Given the description of an element on the screen output the (x, y) to click on. 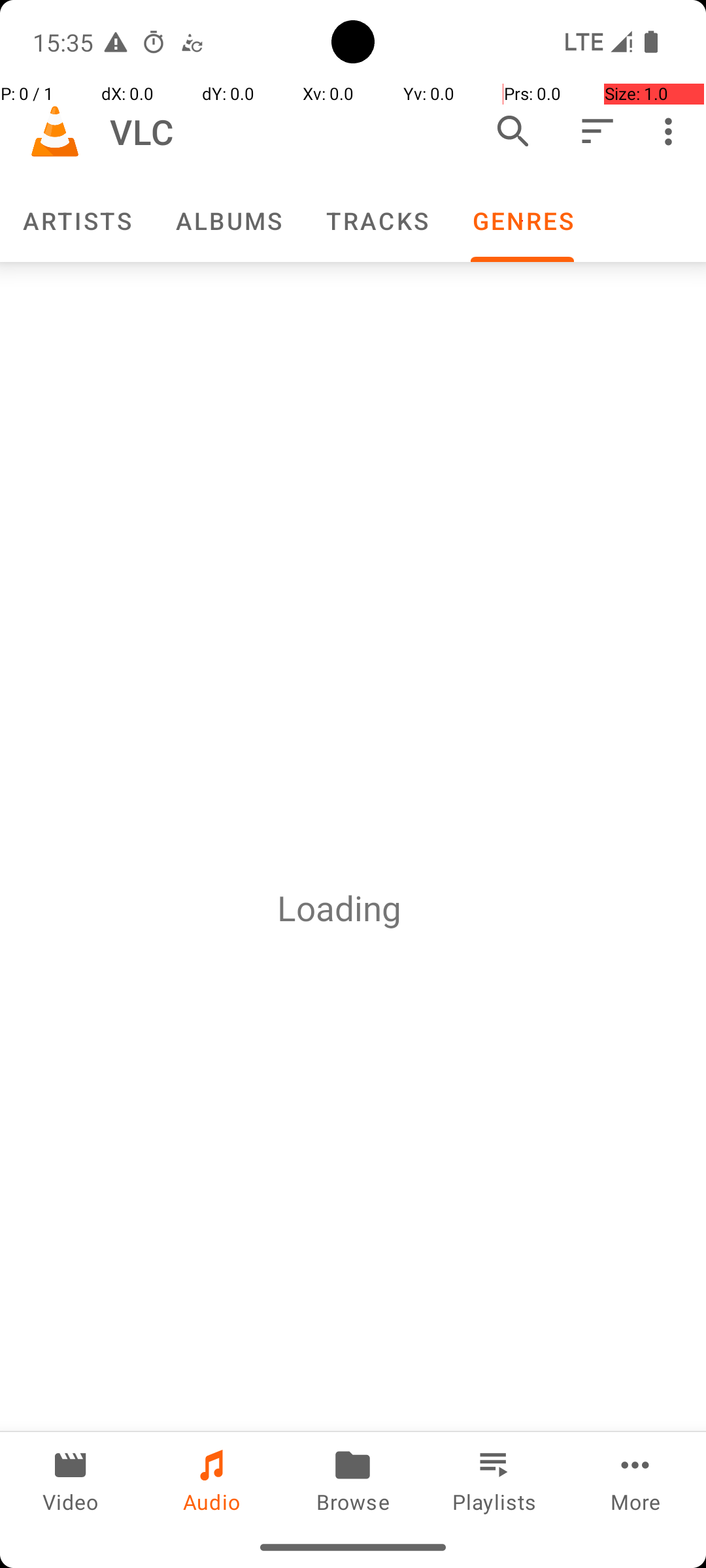
VLC notification: Scanning for media files Element type: android.widget.ImageView (191, 41)
